Given the description of an element on the screen output the (x, y) to click on. 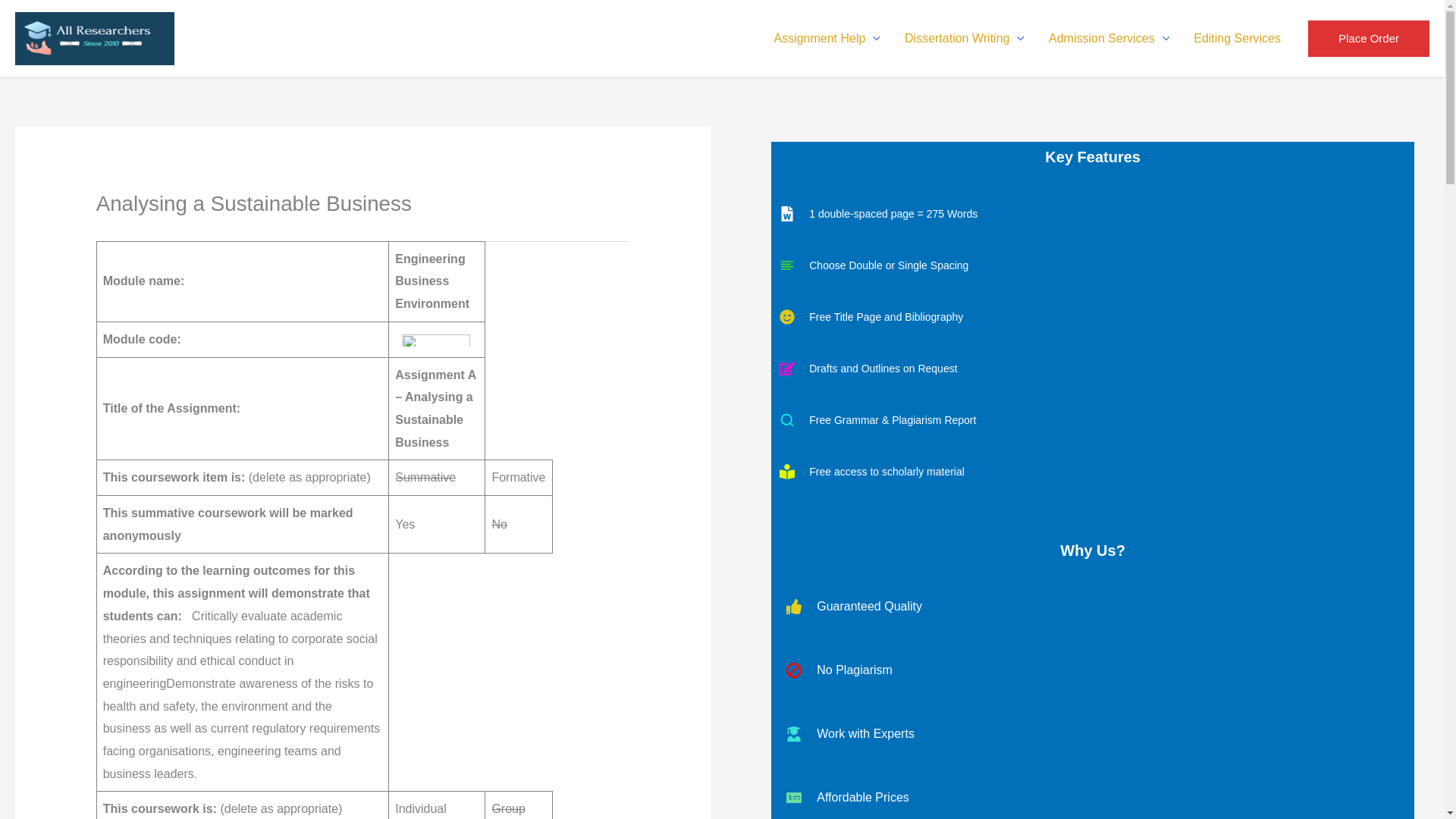
Place Order (1368, 38)
Assignment Help (826, 38)
Admission Services (1108, 38)
Editing Services (1236, 38)
Dissertation Writing (964, 38)
